Given the description of an element on the screen output the (x, y) to click on. 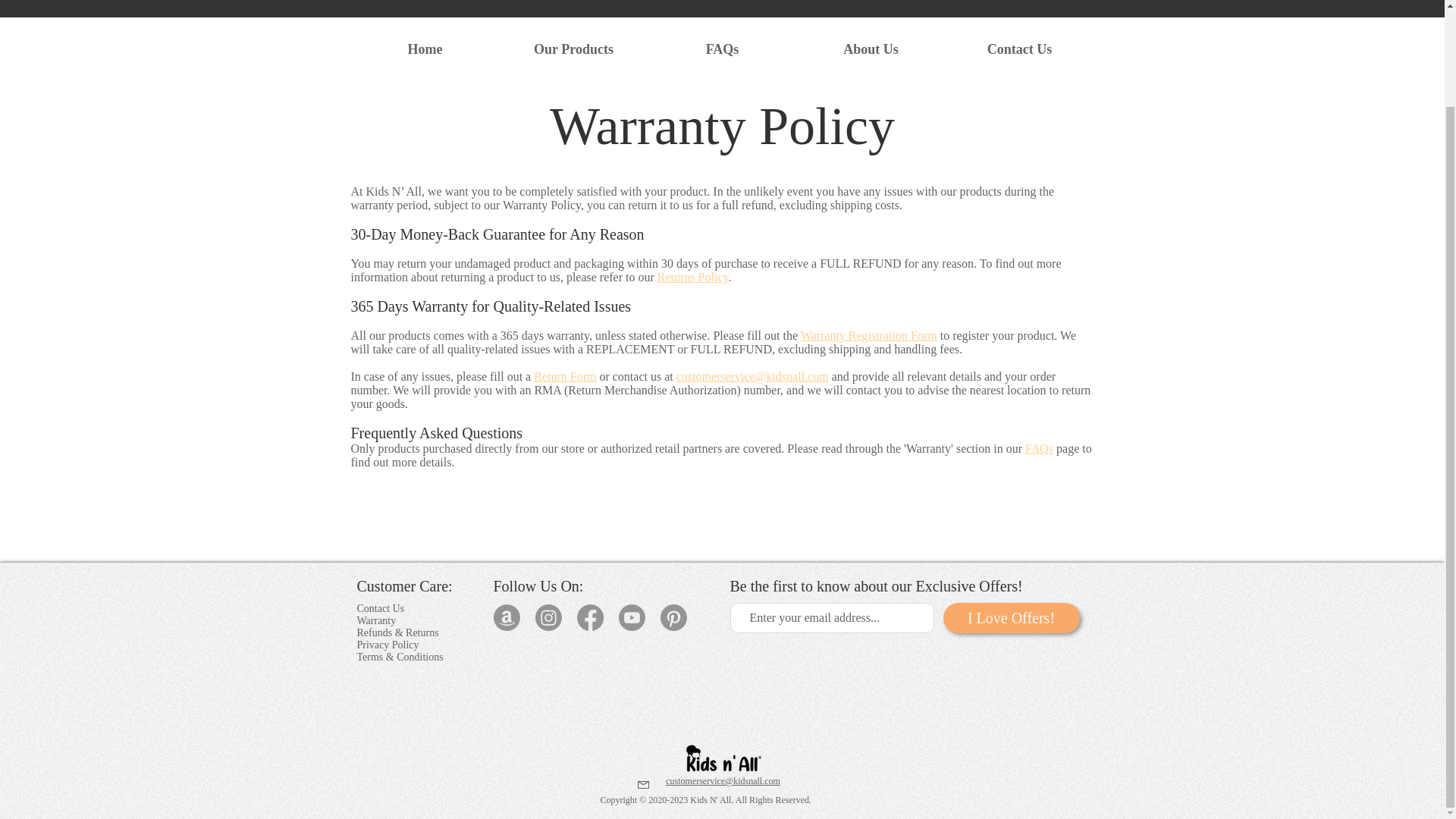
Contact Us (1018, 49)
Our Products (573, 49)
FAQs (721, 49)
Home (424, 49)
Contact Us (380, 608)
Privacy Policy (387, 644)
Warranty (376, 620)
FAQs (1038, 448)
Returns Policy (693, 277)
Return Form (564, 376)
